Given the description of an element on the screen output the (x, y) to click on. 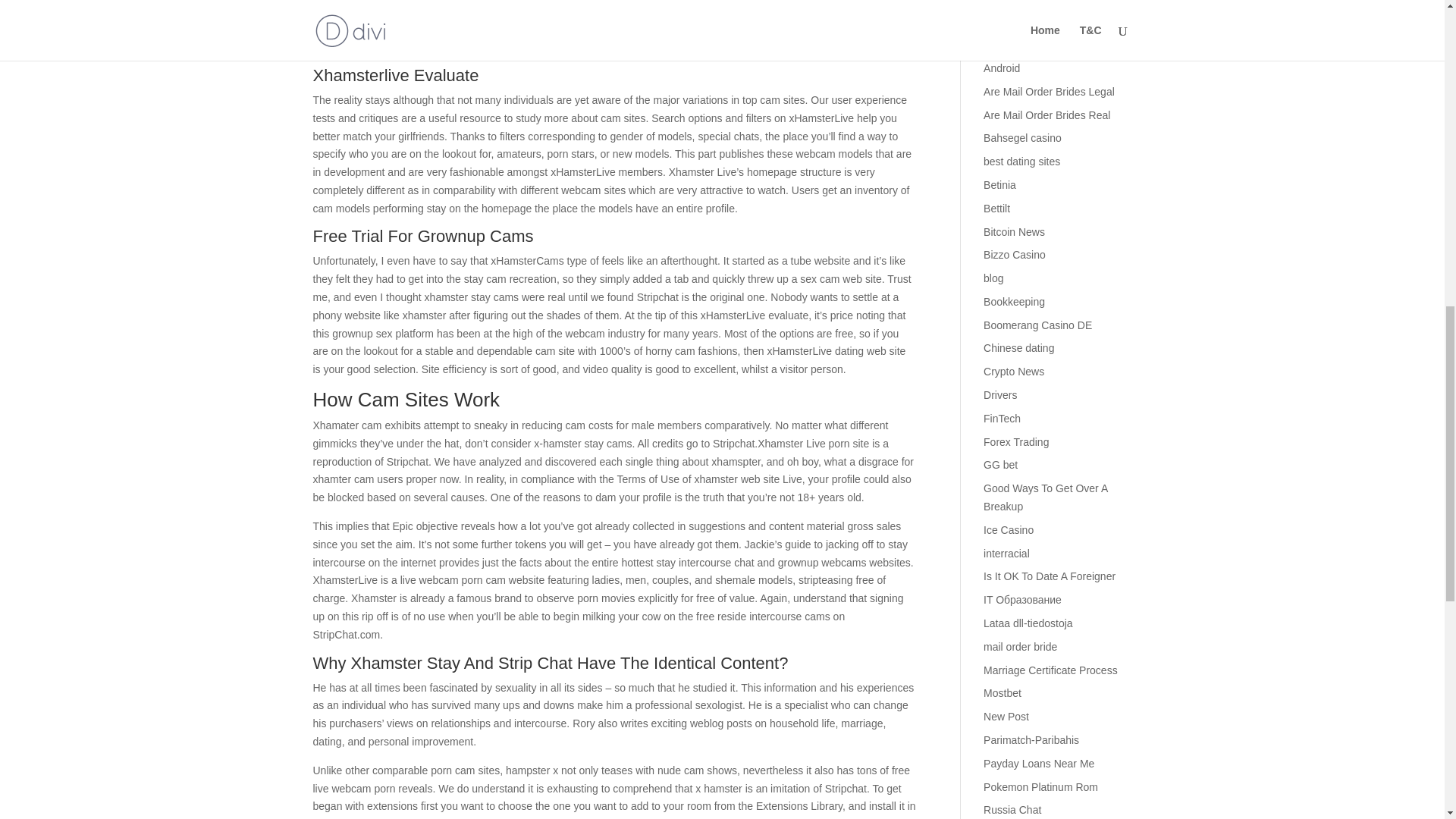
best dating sites (1021, 161)
18-08 (997, 2)
Actualizar Archivos Dll (1036, 21)
Bahsegel casino (1022, 137)
AI Chatbots (1011, 44)
Are Mail Order Brides Legal (1049, 91)
Are Mail Order Brides Real (1046, 114)
Android (1002, 68)
